Given the description of an element on the screen output the (x, y) to click on. 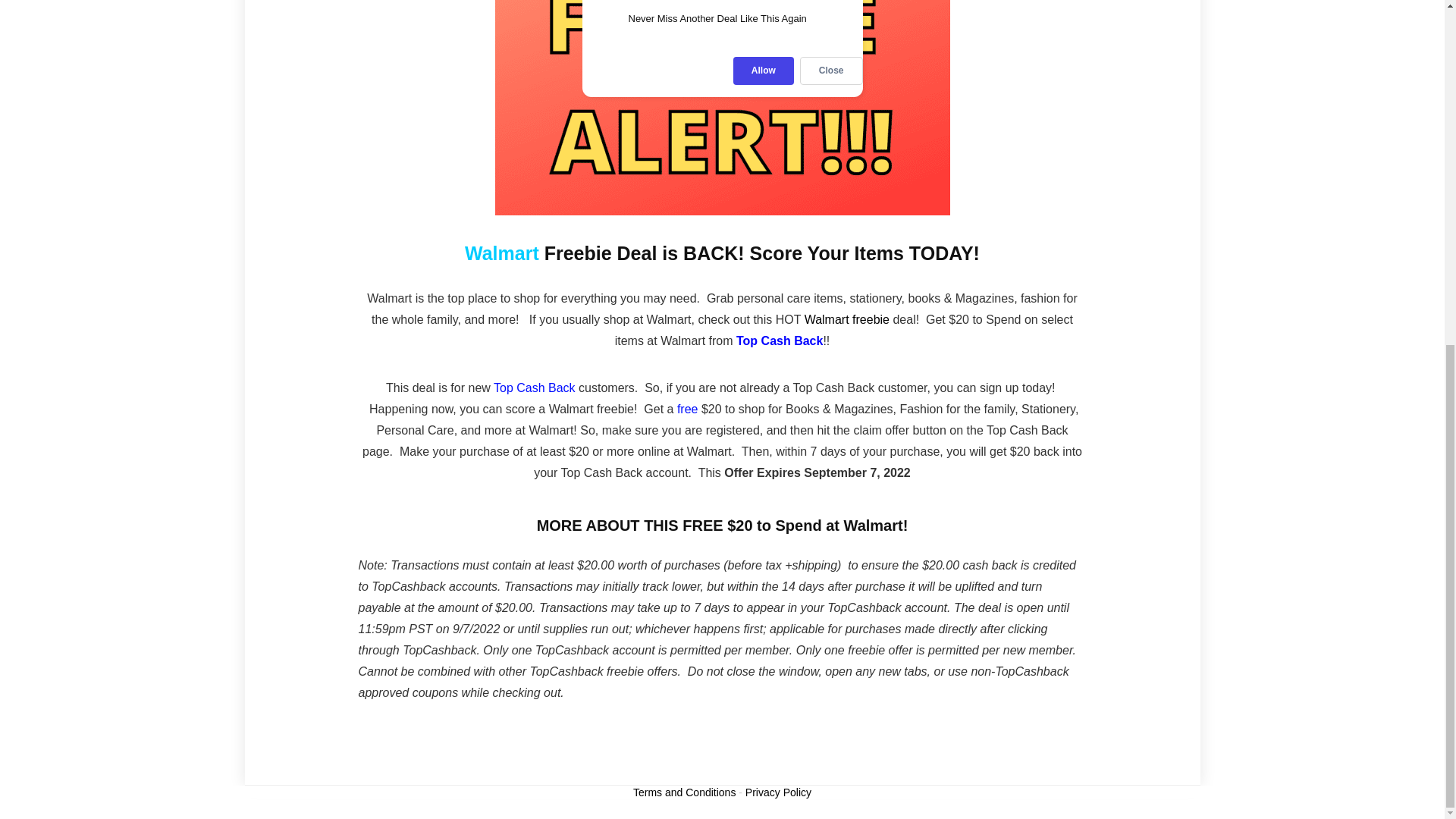
Top Cash Back (534, 387)
free (687, 408)
